Given the description of an element on the screen output the (x, y) to click on. 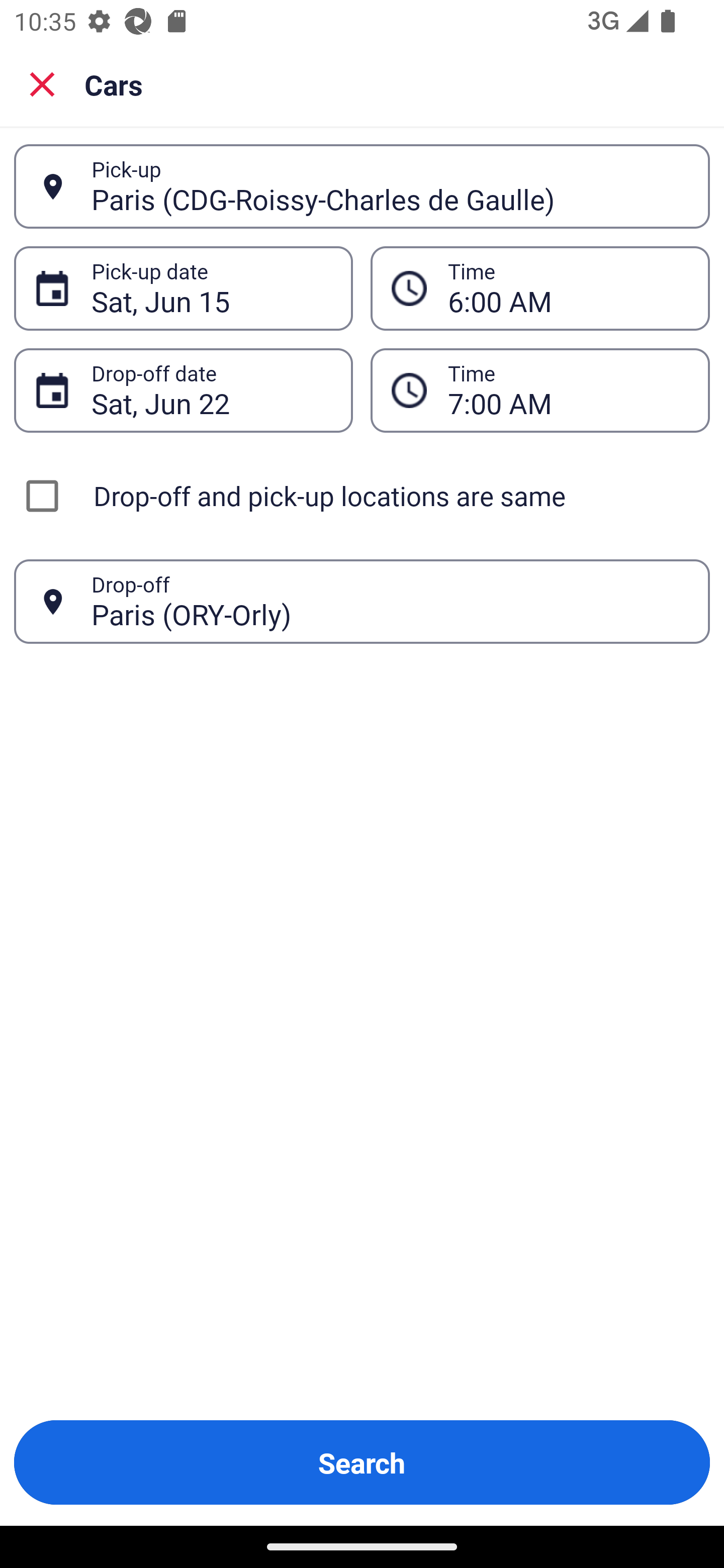
Close search screen (41, 83)
Paris (CDG-Roissy-Charles de Gaulle) Pick-up (361, 186)
Paris (CDG-Roissy-Charles de Gaulle) (389, 186)
Sat, Jun 15 Pick-up date (183, 288)
6:00 AM (540, 288)
Sat, Jun 15 (211, 288)
6:00 AM (568, 288)
Sat, Jun 22 Drop-off date (183, 390)
7:00 AM (540, 390)
Sat, Jun 22 (211, 390)
7:00 AM (568, 390)
Drop-off and pick-up locations are same (361, 495)
Paris (ORY-Orly) Drop-off (361, 601)
Paris (ORY-Orly) (389, 601)
Search Button Search (361, 1462)
